Given the description of an element on the screen output the (x, y) to click on. 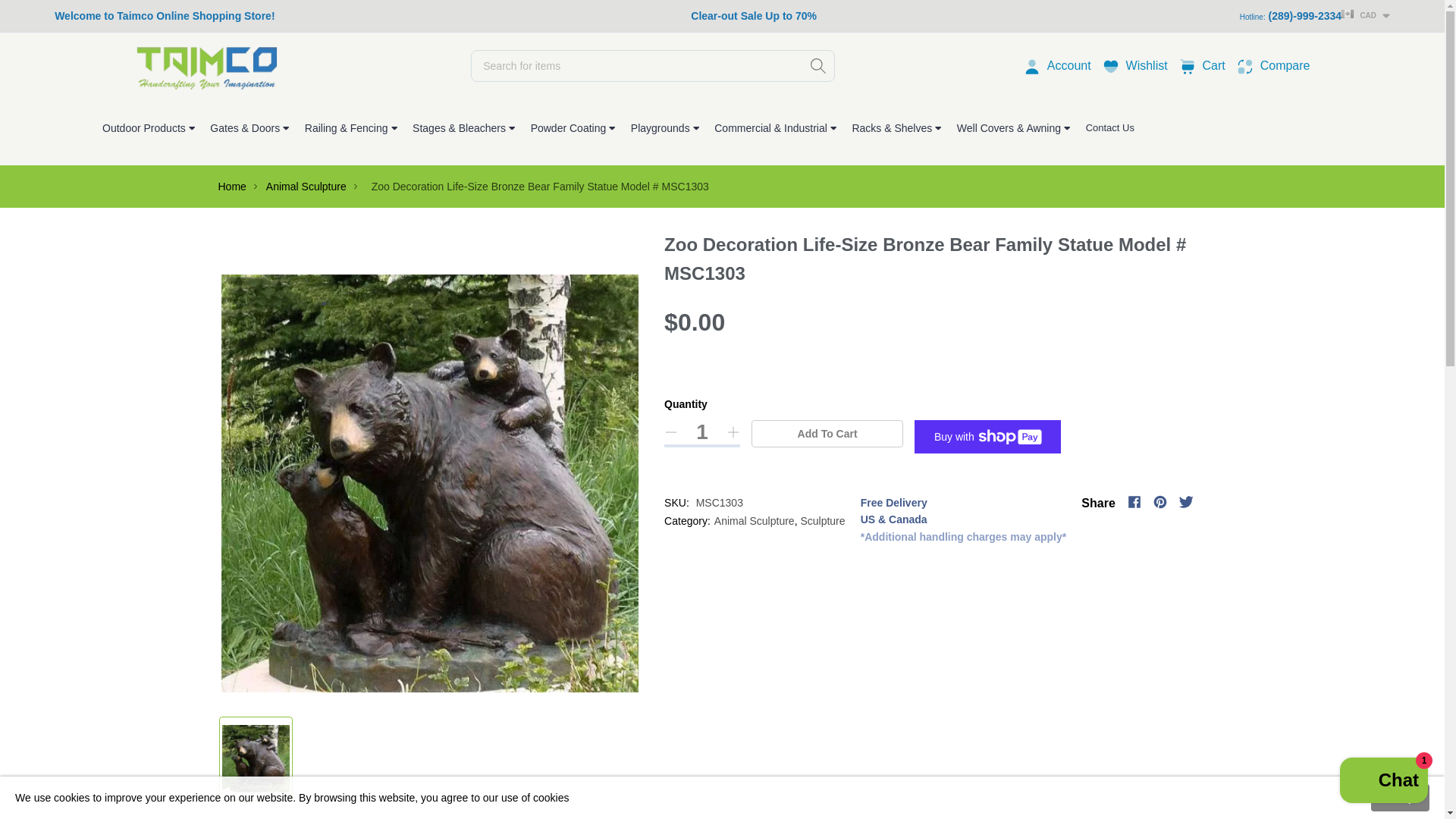
  CAD (1365, 14)
Wishlist (1147, 65)
Compare (1285, 65)
1 (702, 432)
Shopify online store chat (1383, 781)
Cart (1213, 65)
Account (1068, 65)
ready-to-ship-products (753, 17)
CA (1317, 38)
US (1188, 65)
